Given the description of an element on the screen output the (x, y) to click on. 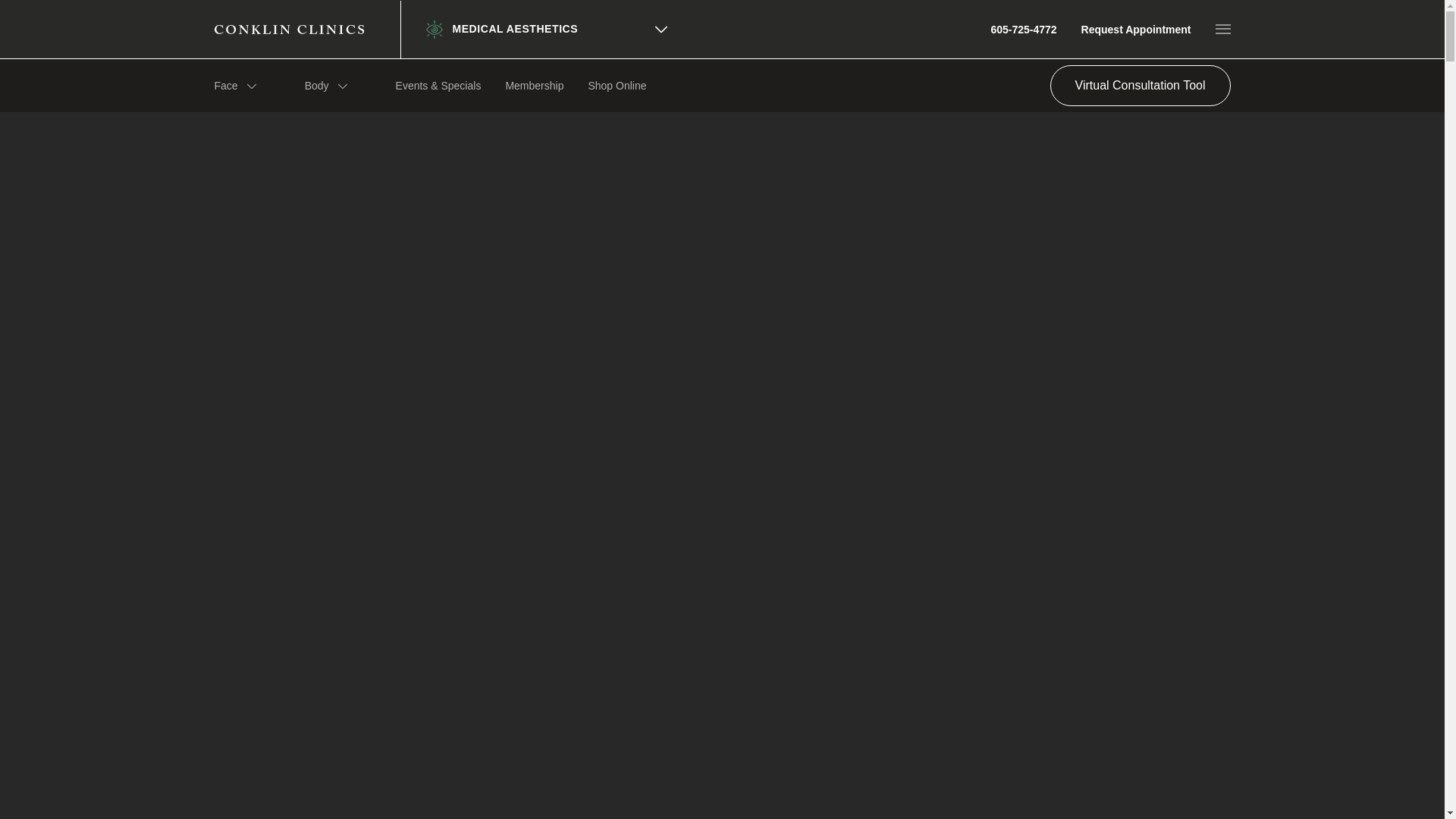
Main Menu (1222, 28)
Face (235, 85)
605-725-4772 (1023, 29)
Request Appointment (1136, 29)
